Given the description of an element on the screen output the (x, y) to click on. 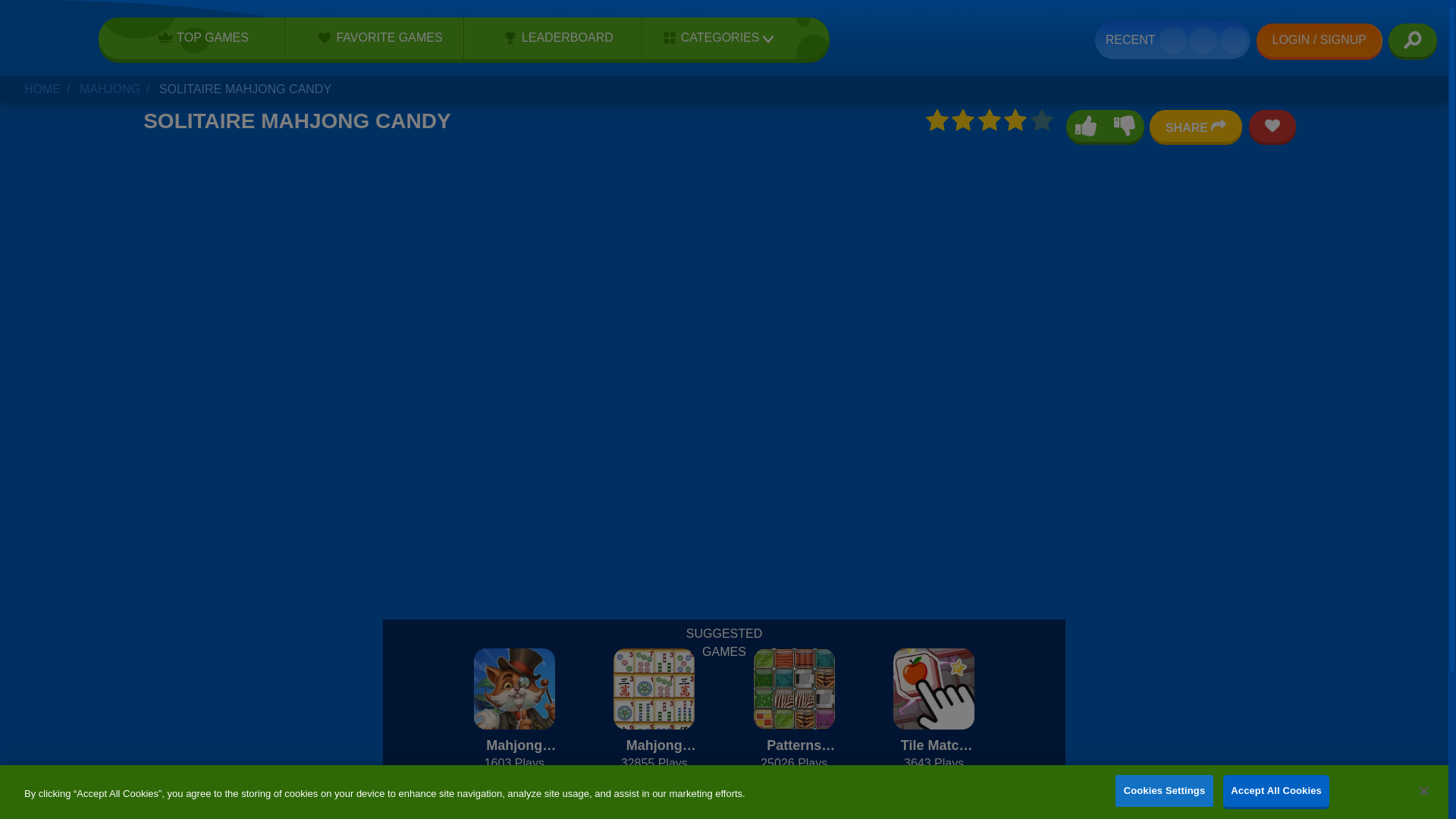
LEADERBOARD (553, 37)
TOP GAMES (197, 37)
CATEGORIES (712, 38)
FAVORITE GAMES (374, 37)
